Given the description of an element on the screen output the (x, y) to click on. 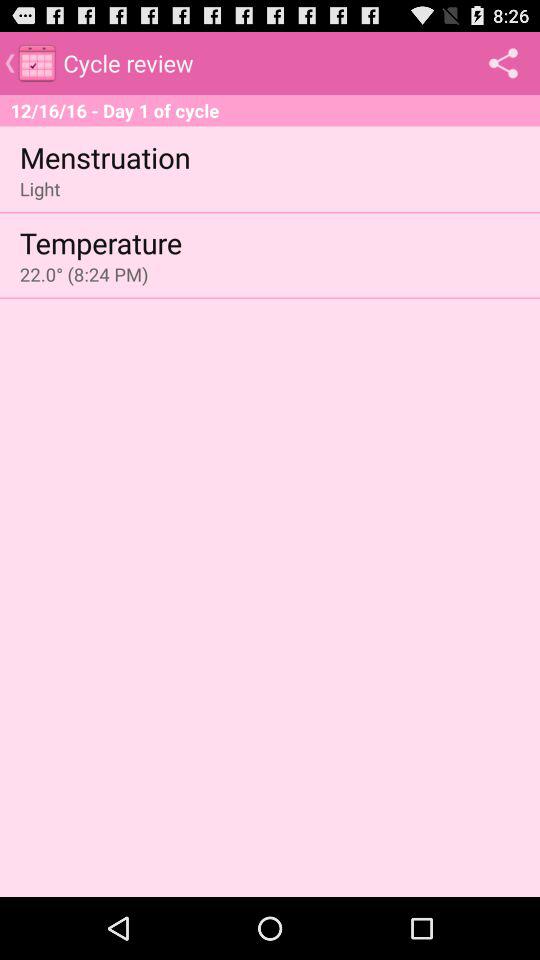
tap the 12 16 16 icon (270, 109)
